Given the description of an element on the screen output the (x, y) to click on. 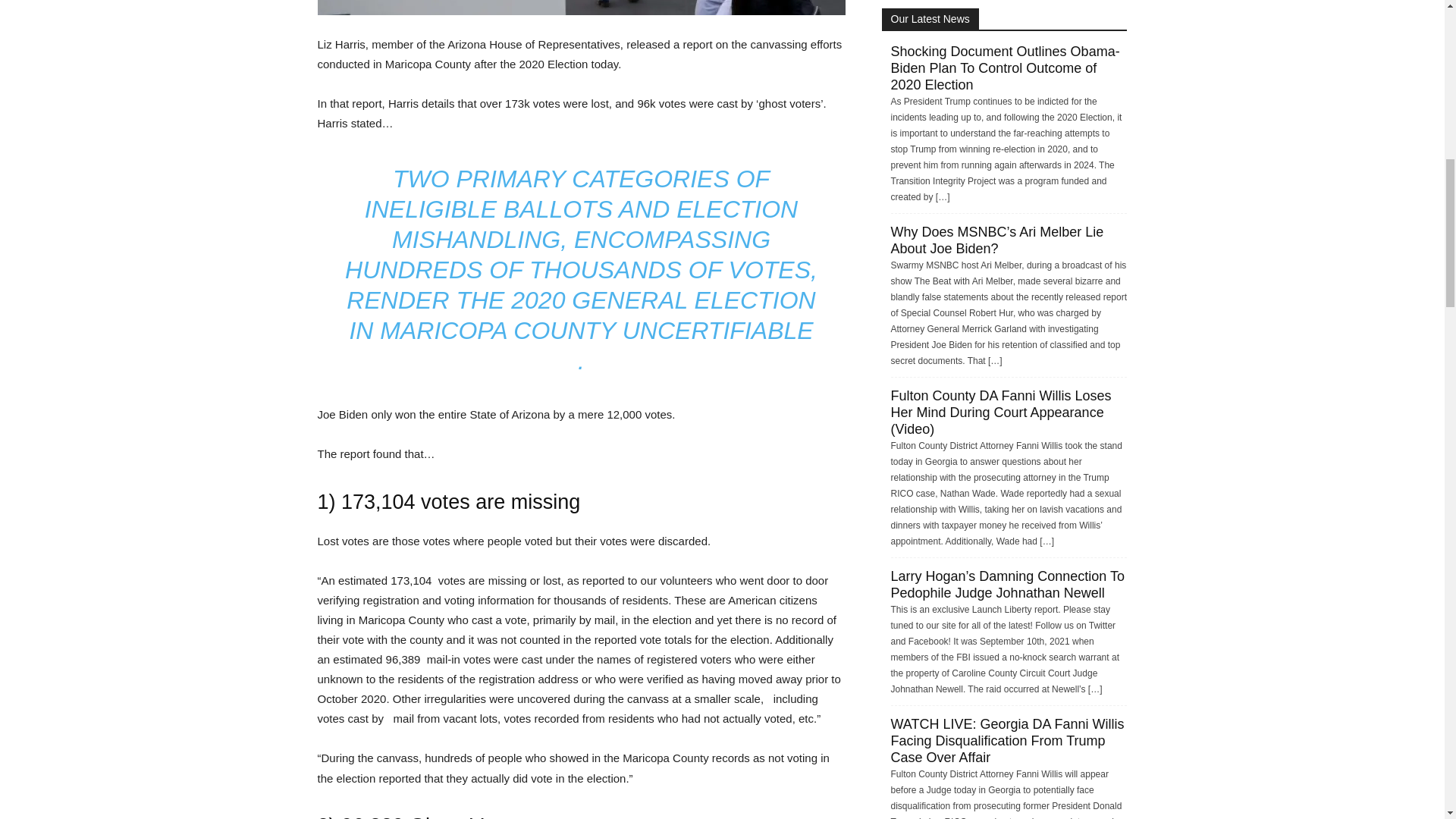
A (580, 7)
